Given the description of an element on the screen output the (x, y) to click on. 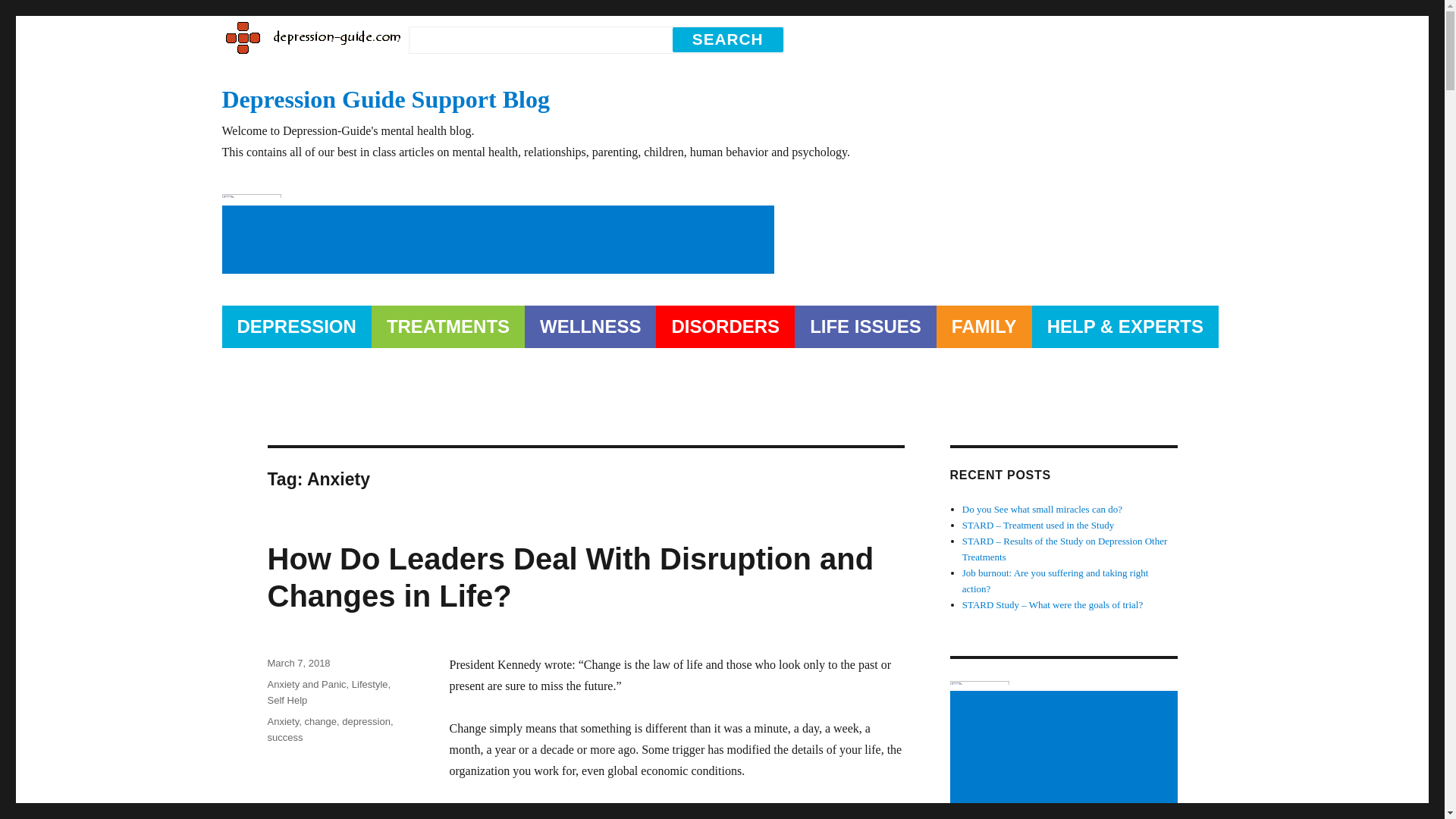
SEARCH (727, 39)
WELLNESS (590, 326)
DEPRESSION (296, 326)
DISORDERS (725, 326)
SEARCH (727, 39)
LIFE ISSUES (865, 326)
TREATMENTS (447, 326)
Depression Guide Support Blog (722, 67)
